Given the description of an element on the screen output the (x, y) to click on. 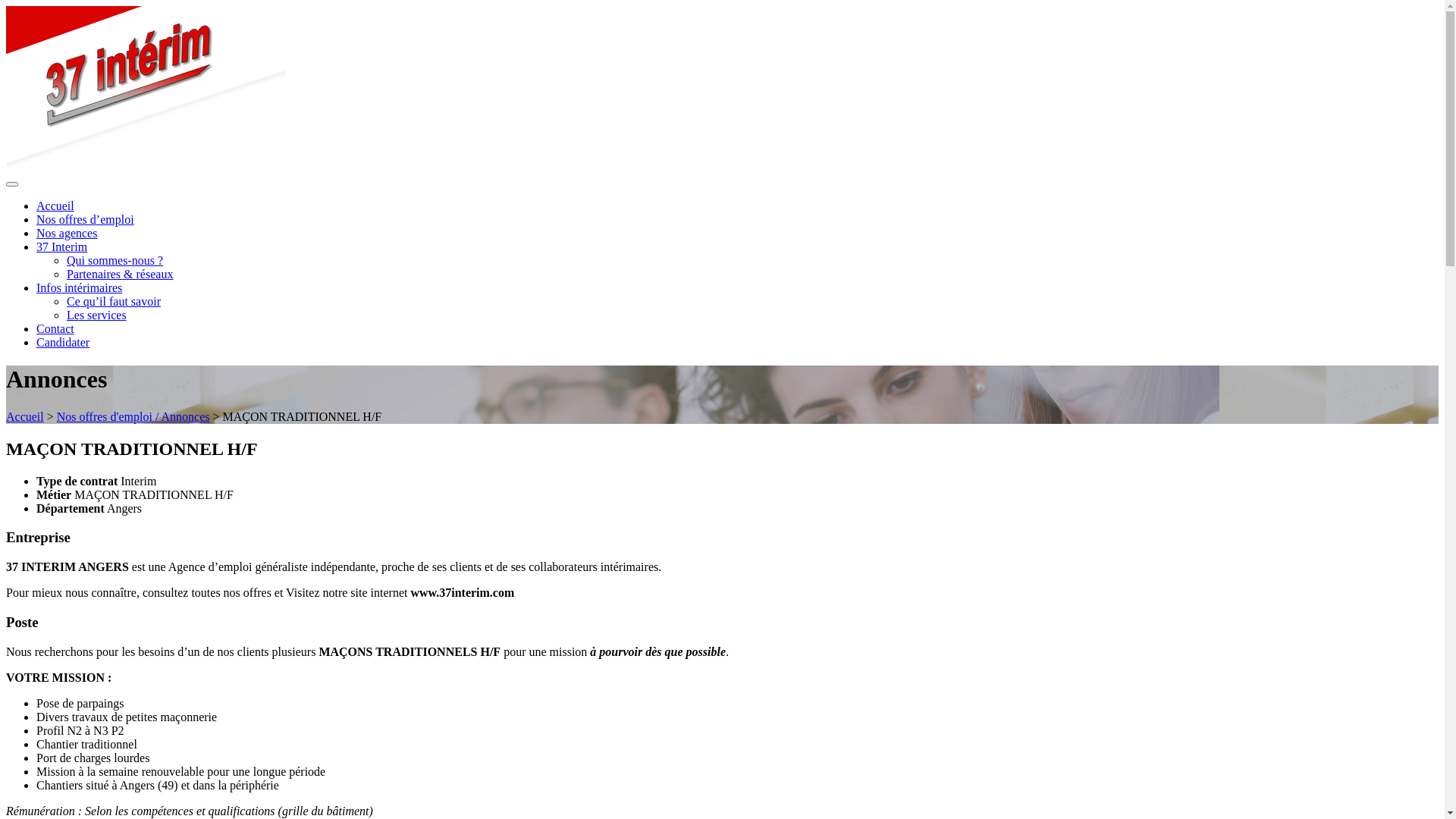
37 Interim Element type: text (61, 246)
Accueil Element type: text (55, 205)
Contact Element type: text (55, 328)
Qui sommes-nous ? Element type: text (114, 260)
Accueil Element type: text (24, 416)
Candidater Element type: text (62, 341)
Les services Element type: text (96, 314)
Nos offres d'emploi / Annonces Element type: text (133, 416)
37 interim Element type: hover (145, 166)
Nos agences Element type: text (66, 232)
